Given the description of an element on the screen output the (x, y) to click on. 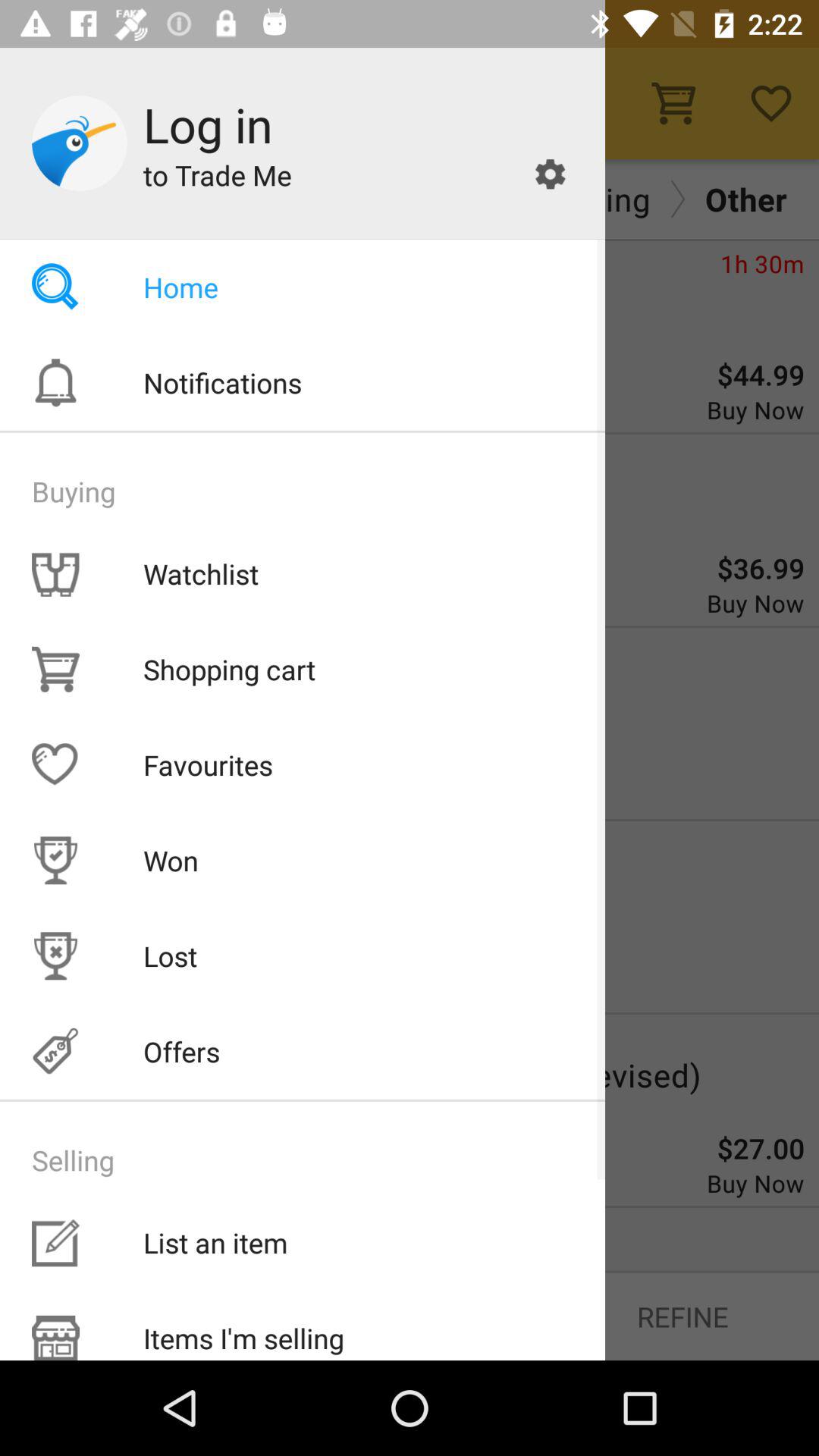
click on icon left to lost (55, 955)
click on the icon left to notifications (55, 382)
the heart icon shown at the top right corner of the page (771, 103)
the cart icon shown left to heart icon at the top right corner (673, 102)
